Given the description of an element on the screen output the (x, y) to click on. 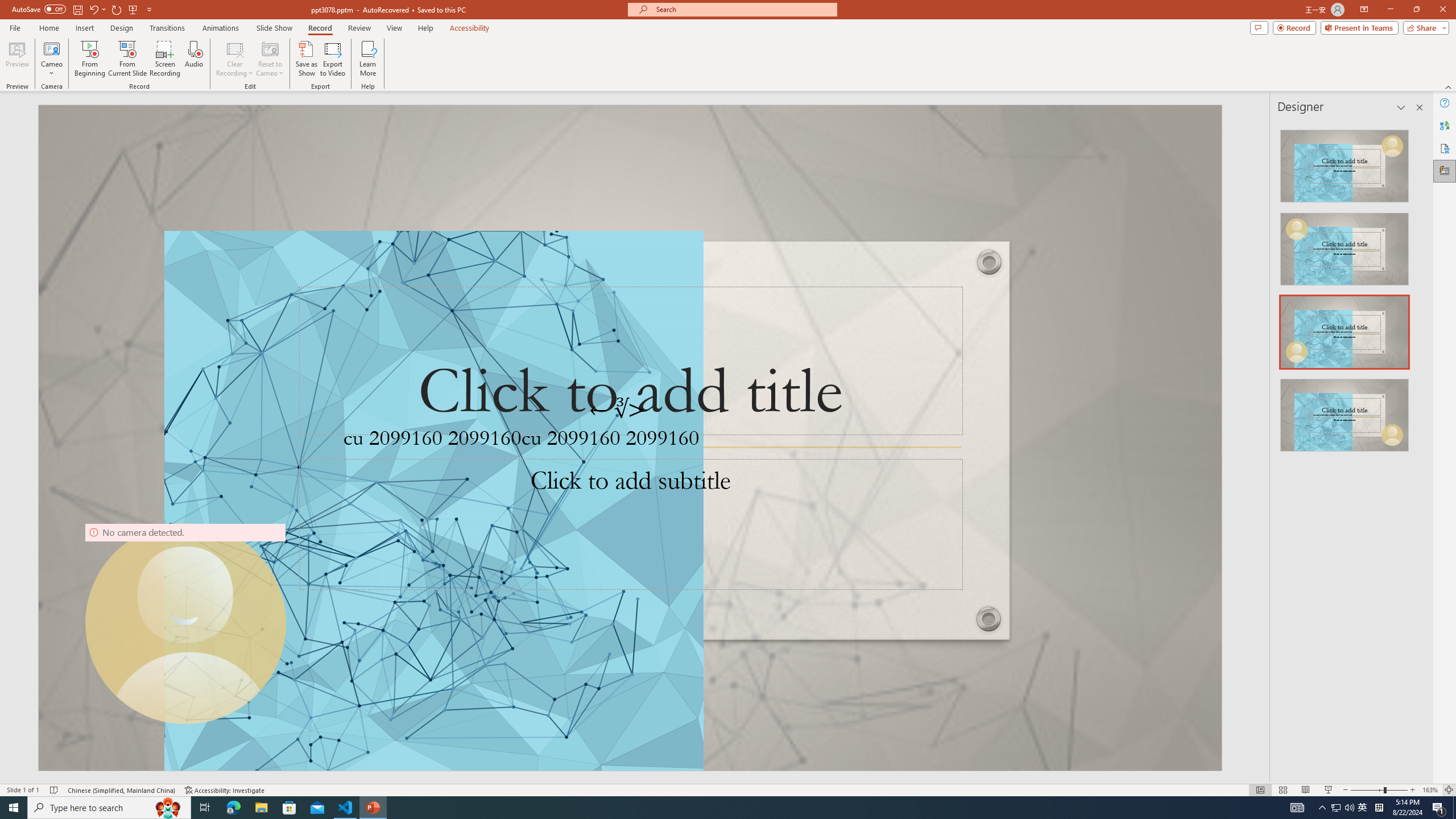
Design Idea (1344, 411)
Audio (193, 58)
